Given the description of an element on the screen output the (x, y) to click on. 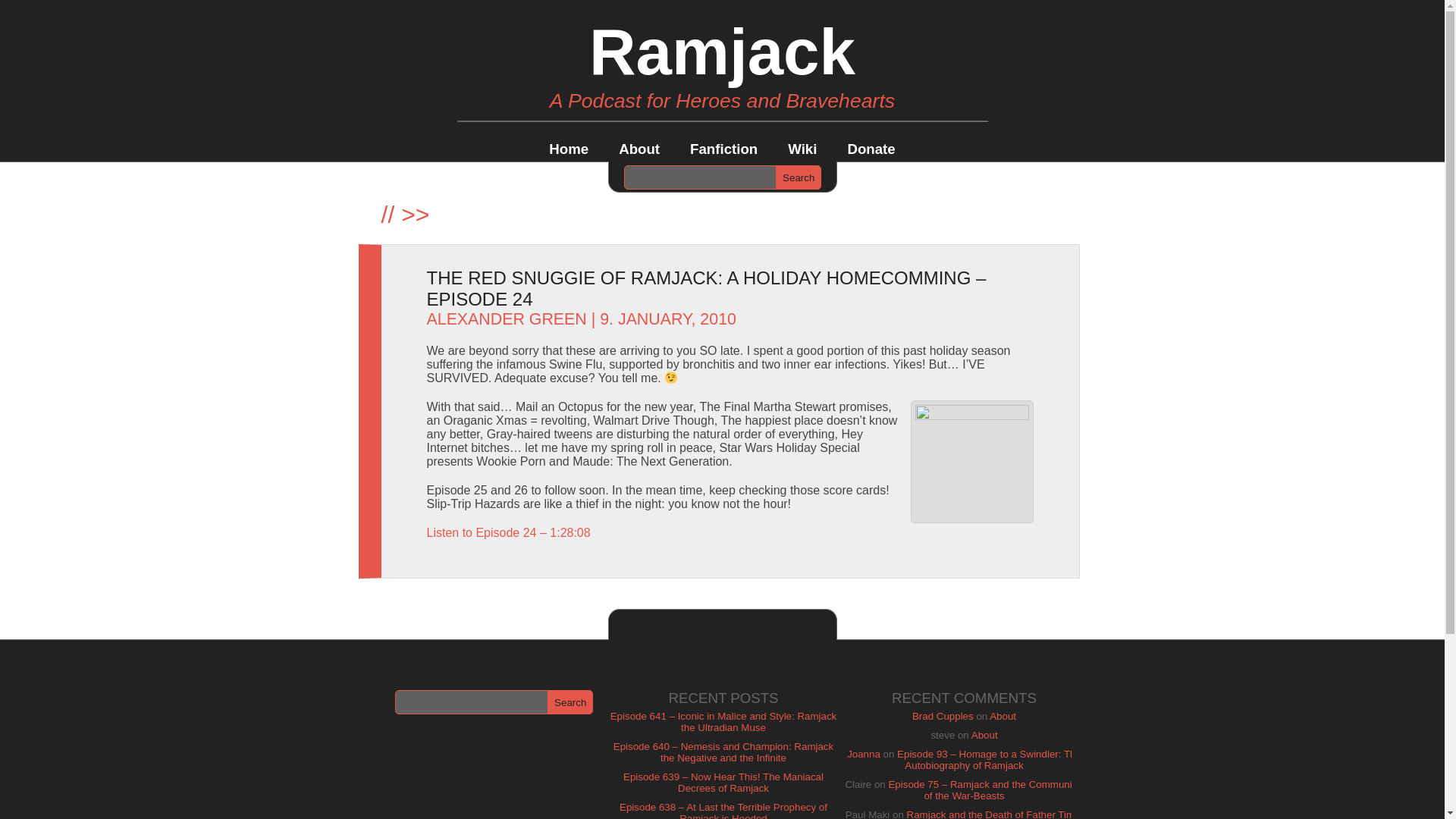
Joanna (863, 754)
Search (798, 177)
About (1003, 715)
Search (569, 702)
Cover Art (971, 461)
Search (798, 177)
About (984, 735)
Brad Cupples (943, 715)
Search (569, 702)
Fanfiction (723, 148)
ALEXANDER GREEN (506, 319)
Donate (871, 148)
Posts by Alexander Green (506, 319)
Home (568, 148)
About (638, 148)
